Given the description of an element on the screen output the (x, y) to click on. 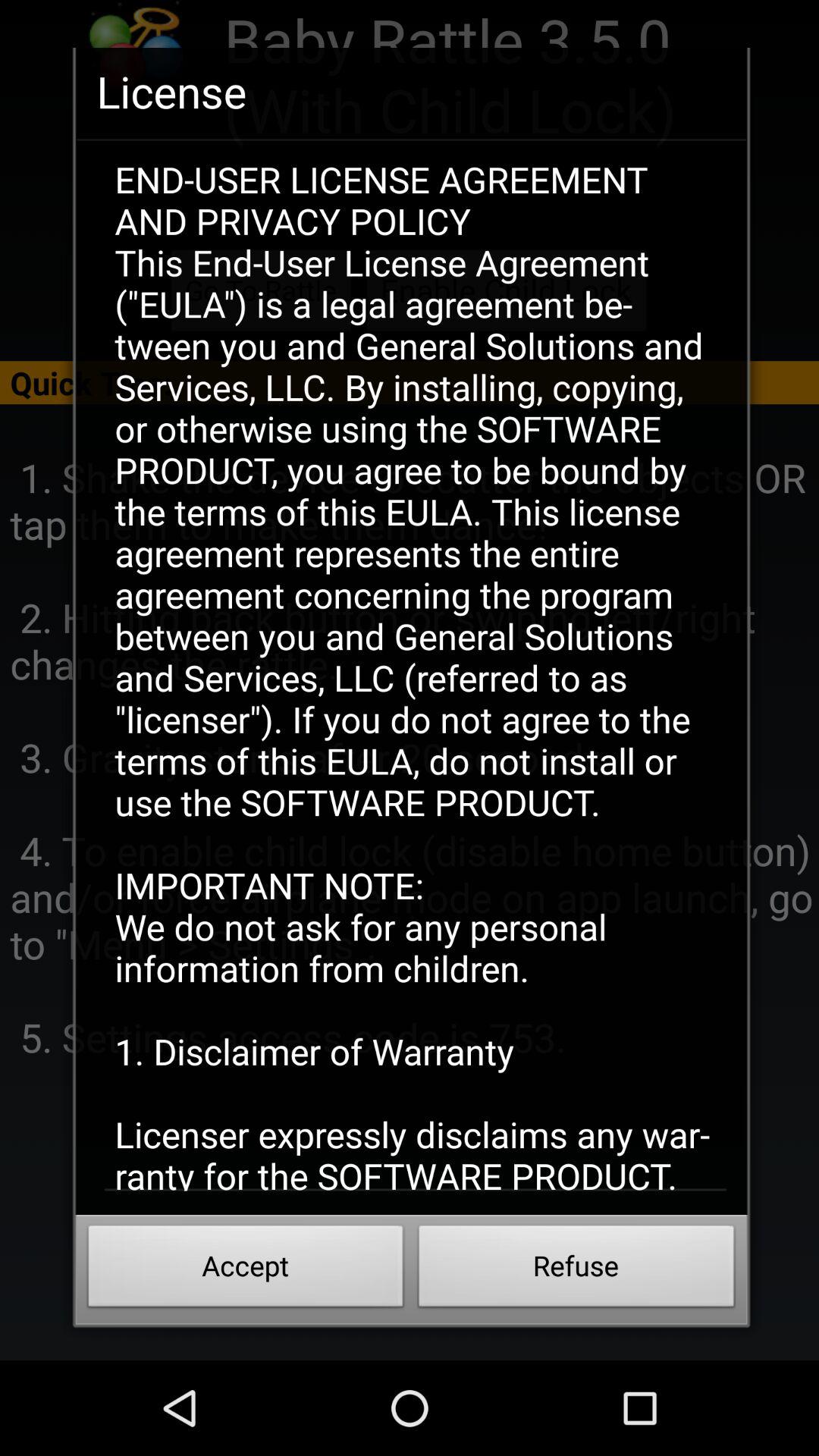
choose the icon at the bottom left corner (245, 1270)
